Given the description of an element on the screen output the (x, y) to click on. 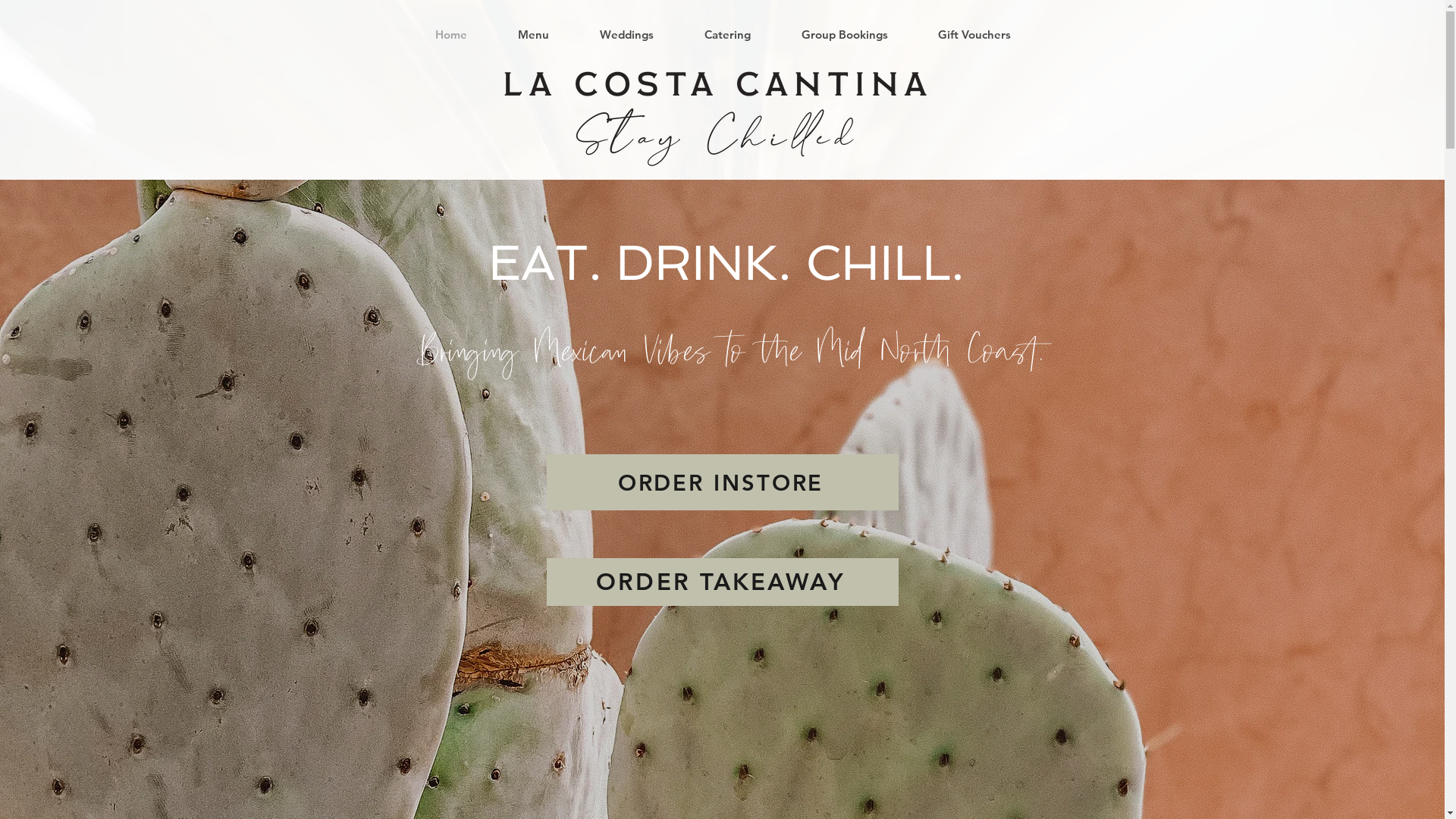
Home Element type: text (450, 34)
Menu Element type: text (533, 34)
Gift Vouchers Element type: text (974, 34)
ORDER TAKEAWAY Element type: text (721, 581)
Catering Element type: text (727, 34)
Group Bookings Element type: text (844, 34)
ORDER INSTORE Element type: text (721, 482)
Weddings Element type: text (626, 34)
